Given the description of an element on the screen output the (x, y) to click on. 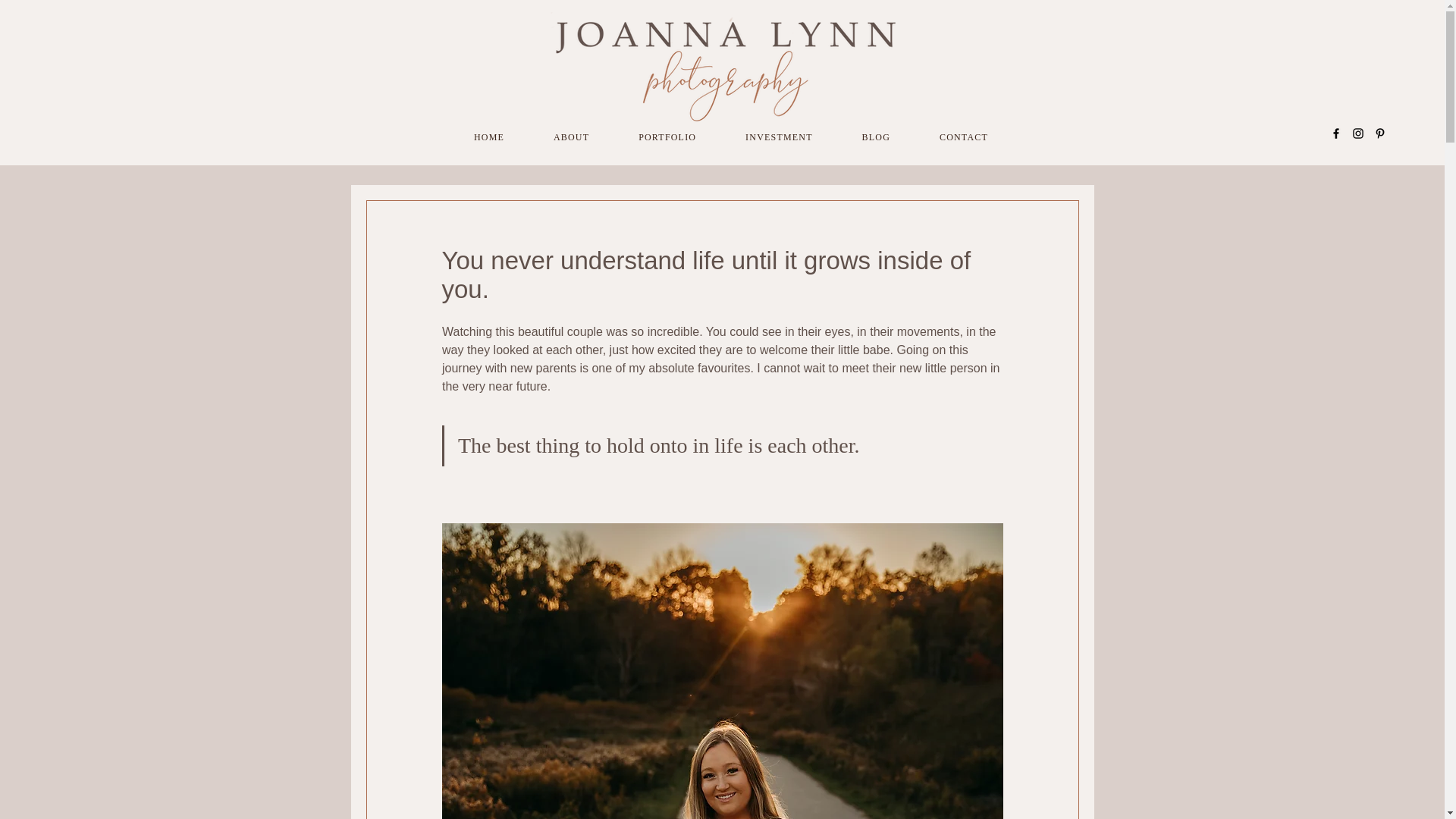
CONTACT (964, 137)
HOME (730, 137)
PORTFOLIO (488, 137)
INVESTMENT (667, 137)
BLOG (778, 137)
ABOUT (875, 137)
